Given the description of an element on the screen output the (x, y) to click on. 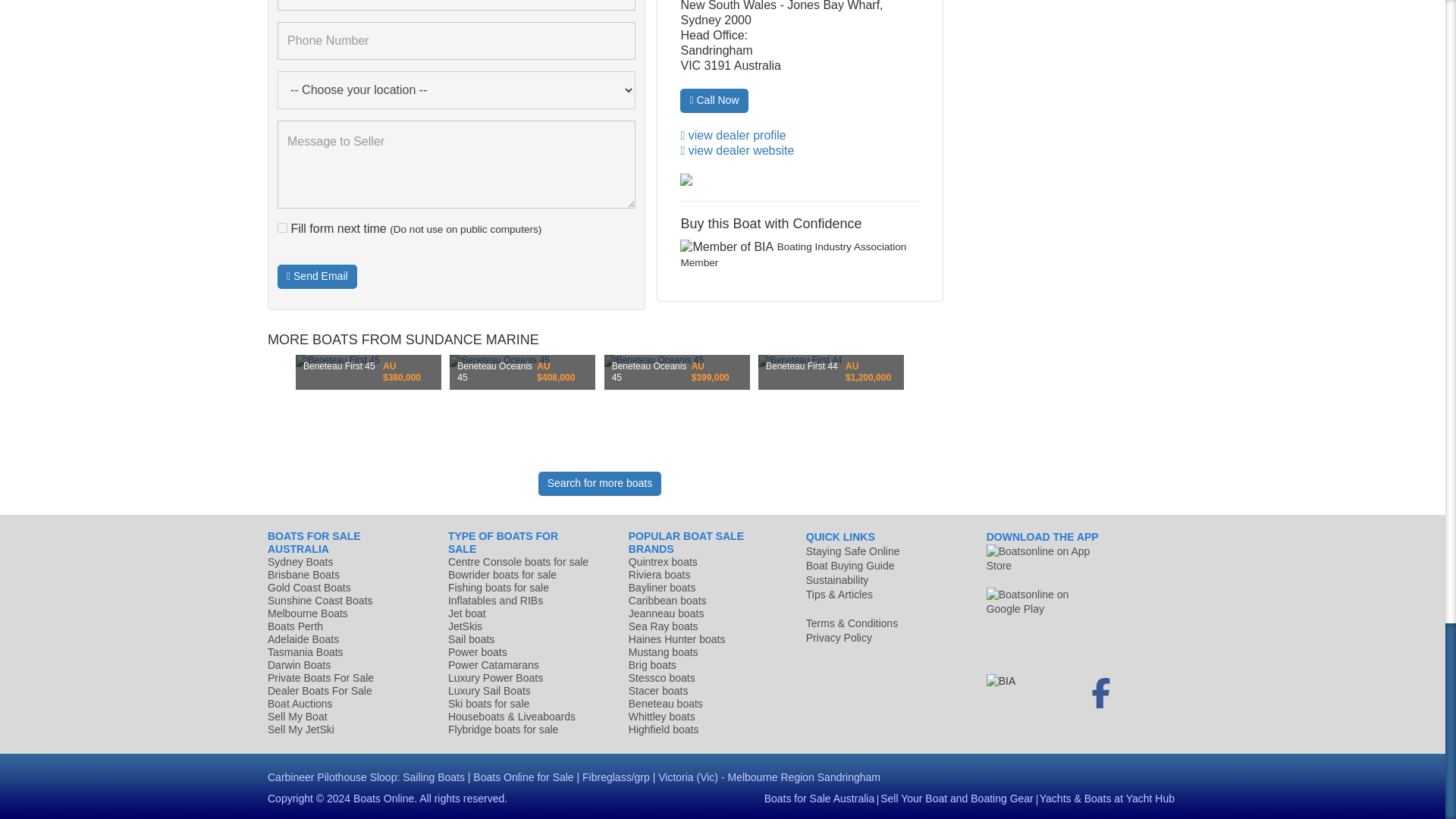
on (282, 227)
